Given the description of an element on the screen output the (x, y) to click on. 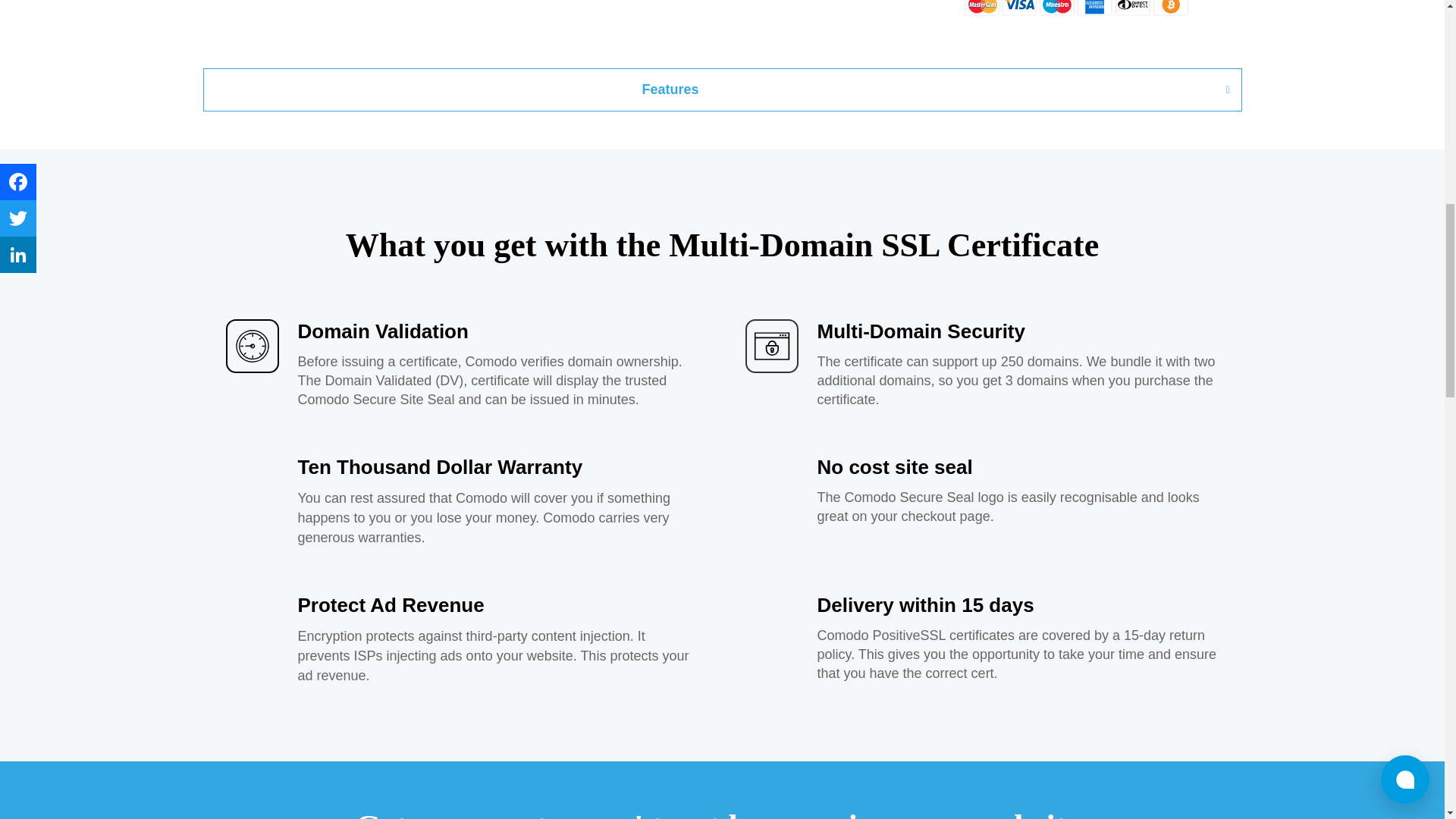
Positivessl Multi Domain 3 (770, 346)
Positivessl Multi Domain 2 (252, 346)
Positivessl Multi Domain 1 (1076, 7)
